Given the description of an element on the screen output the (x, y) to click on. 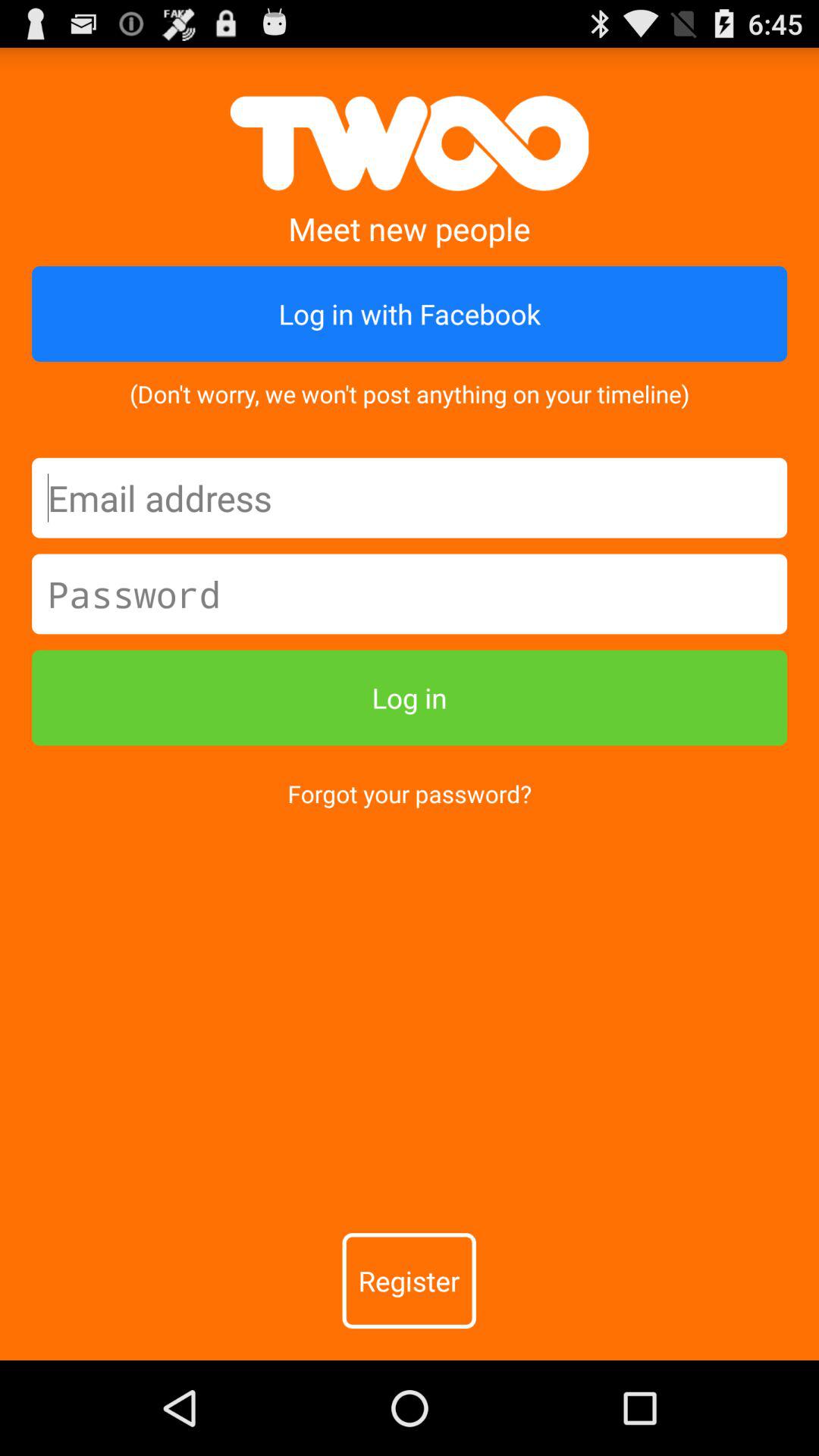
turn on the register item (409, 1280)
